Given the description of an element on the screen output the (x, y) to click on. 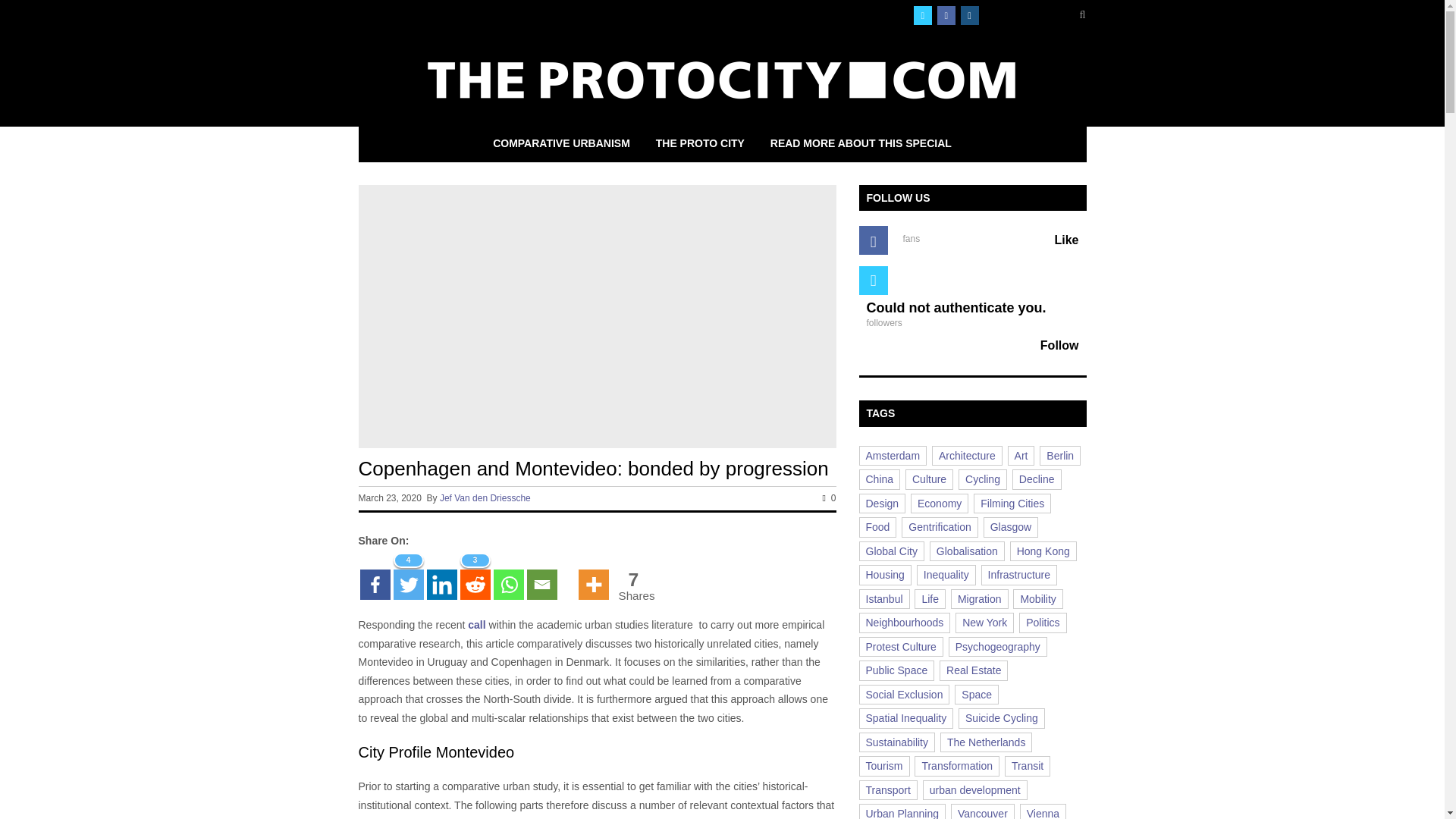
Total Shares (633, 585)
COMPARATIVE URBANISM (561, 143)
Jef Van den Driessche (485, 498)
THE PROTO CITY (700, 143)
Search... (1031, 15)
READ MORE ABOUT THIS SPECIAL (860, 143)
call (475, 624)
